Given the description of an element on the screen output the (x, y) to click on. 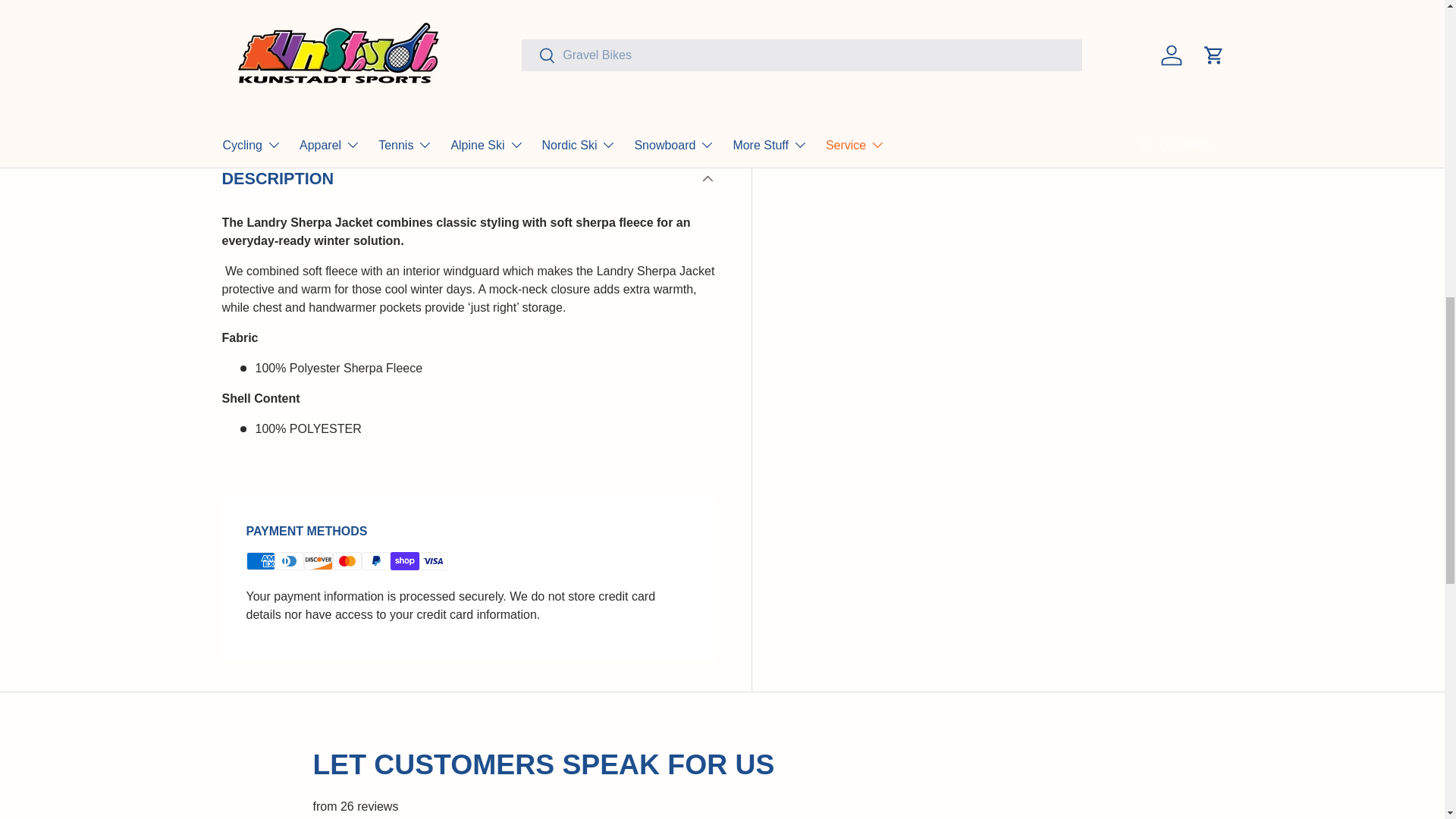
Diners Club (288, 561)
Discover (316, 561)
1 (851, 47)
Mastercard (346, 561)
American Express (260, 561)
